Given the description of an element on the screen output the (x, y) to click on. 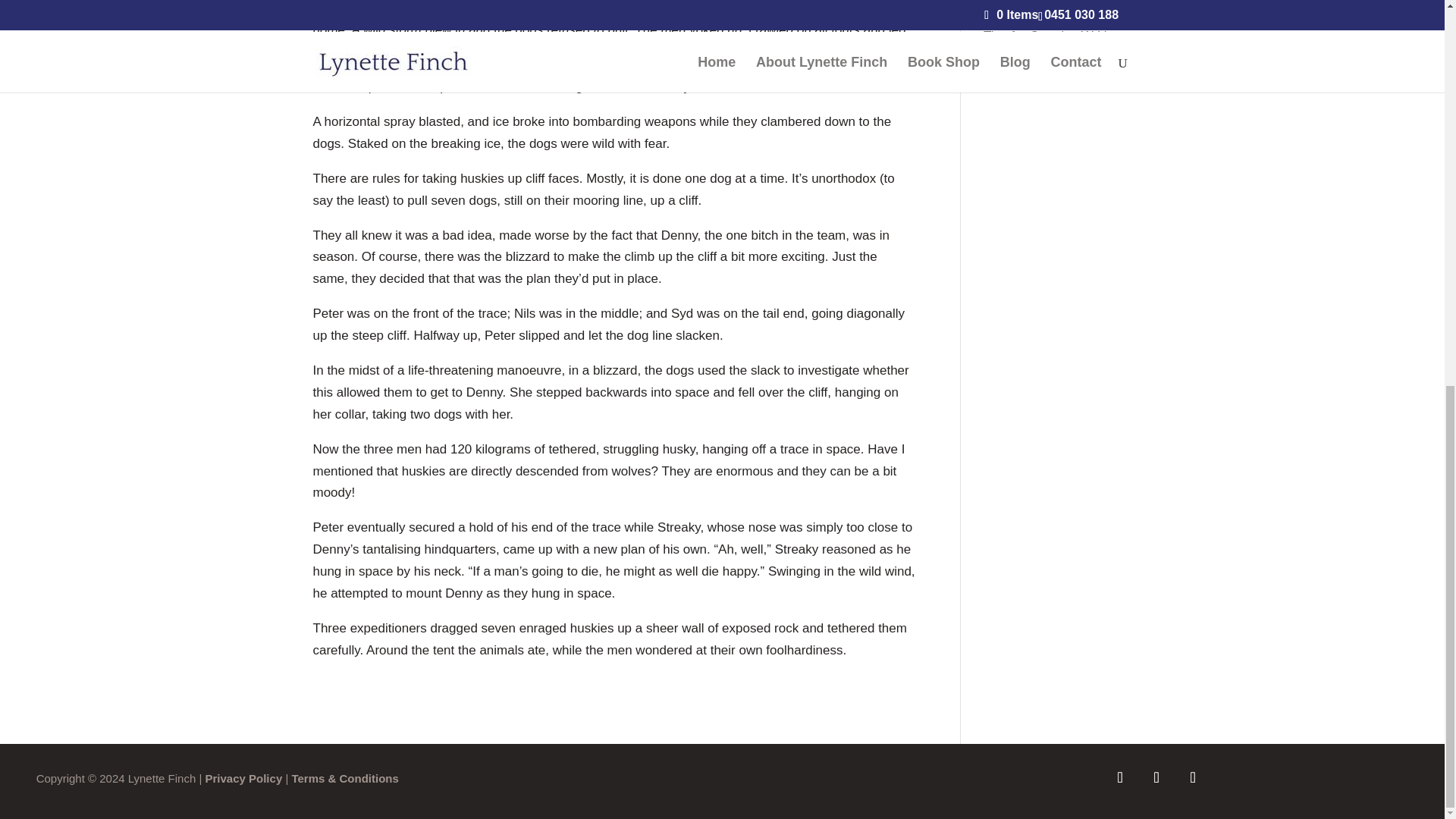
Follow on Facebook (1120, 777)
General (1006, 7)
Tips for Creative Writing (1052, 35)
Follow on LinkedIn (1156, 777)
Follow on X (1192, 777)
Privacy Policy (243, 778)
